Given the description of an element on the screen output the (x, y) to click on. 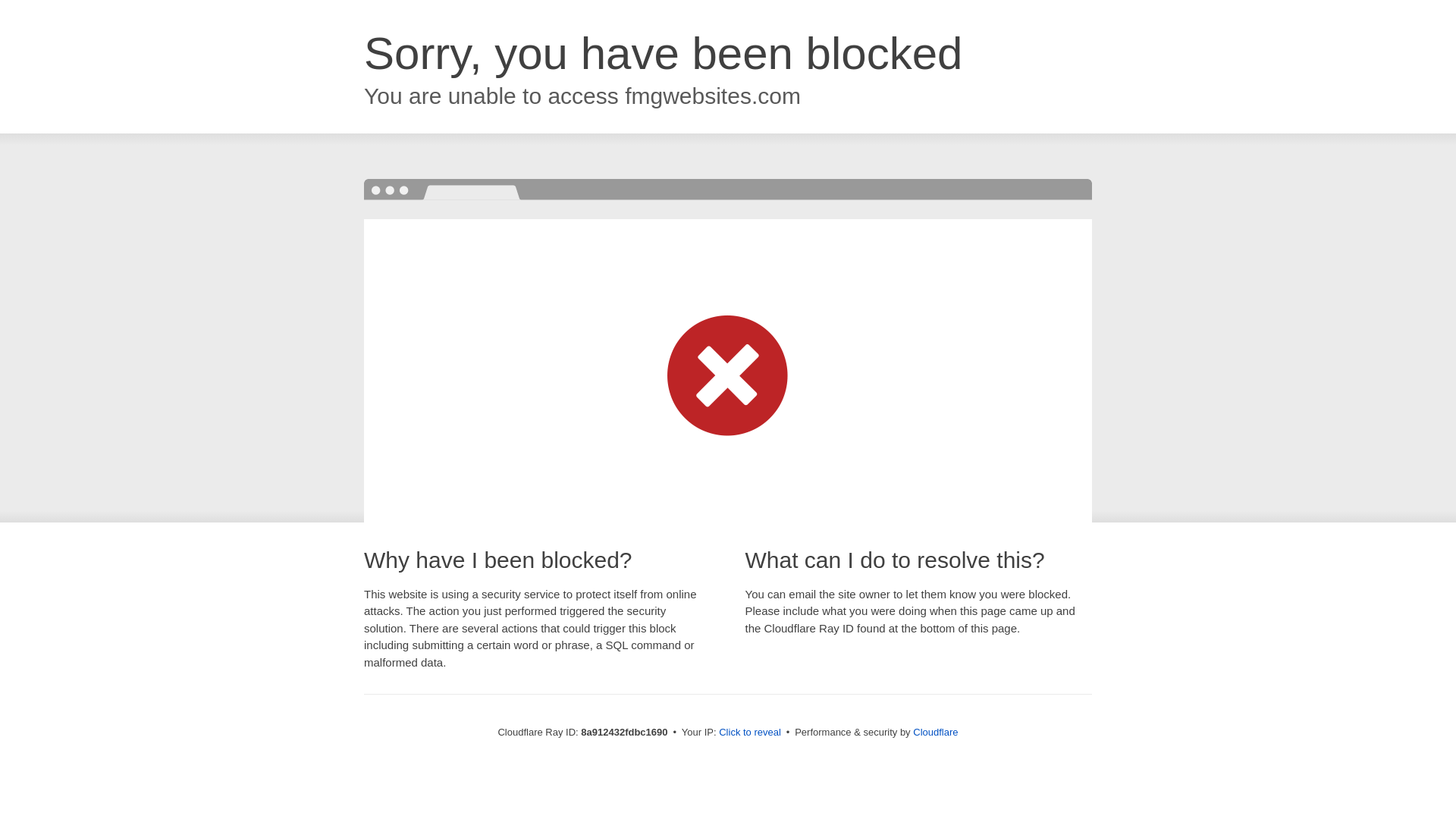
Click to reveal (749, 732)
Cloudflare (935, 731)
